Given the description of an element on the screen output the (x, y) to click on. 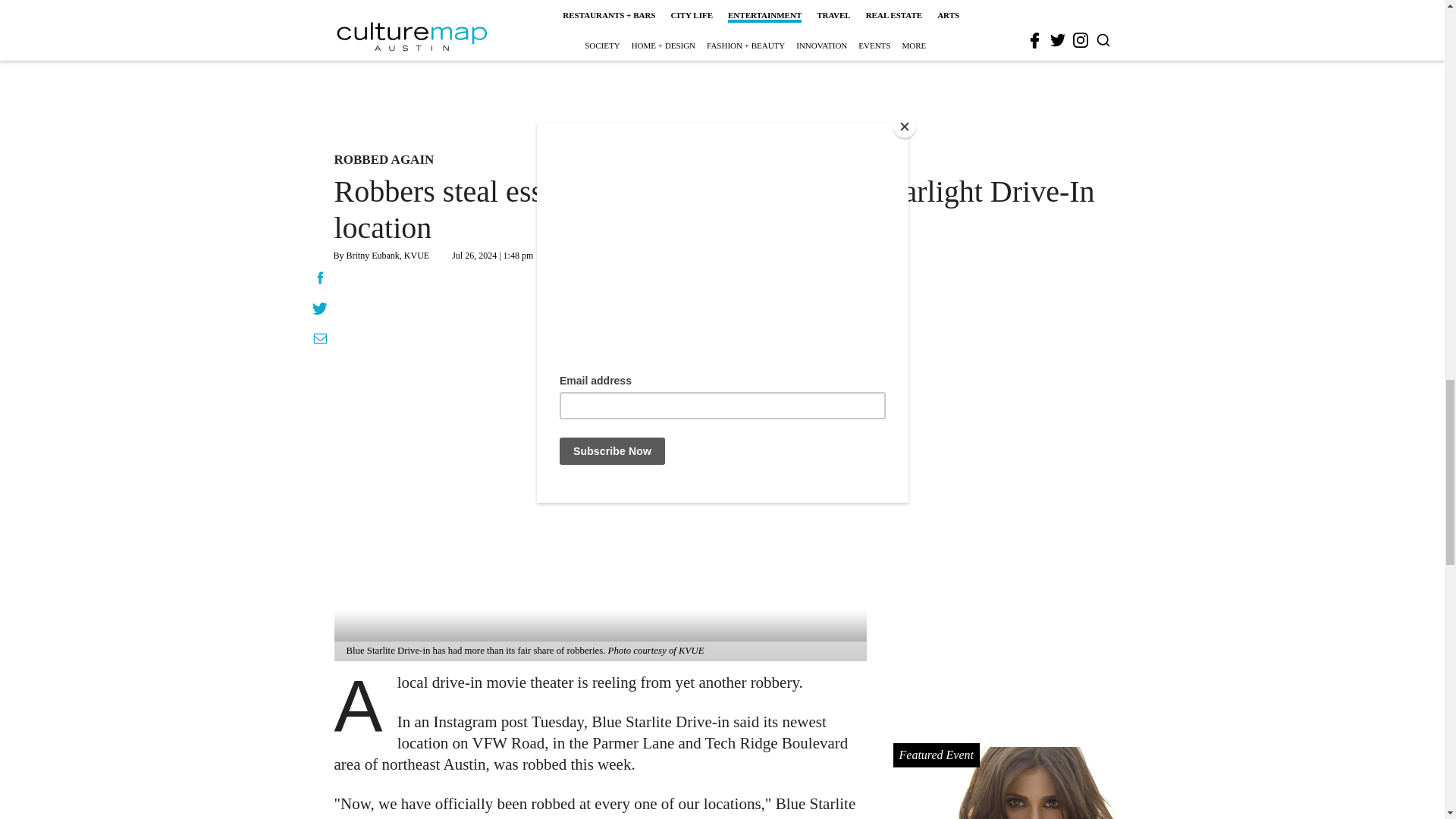
3rd party ad content (702, 35)
